Given the description of an element on the screen output the (x, y) to click on. 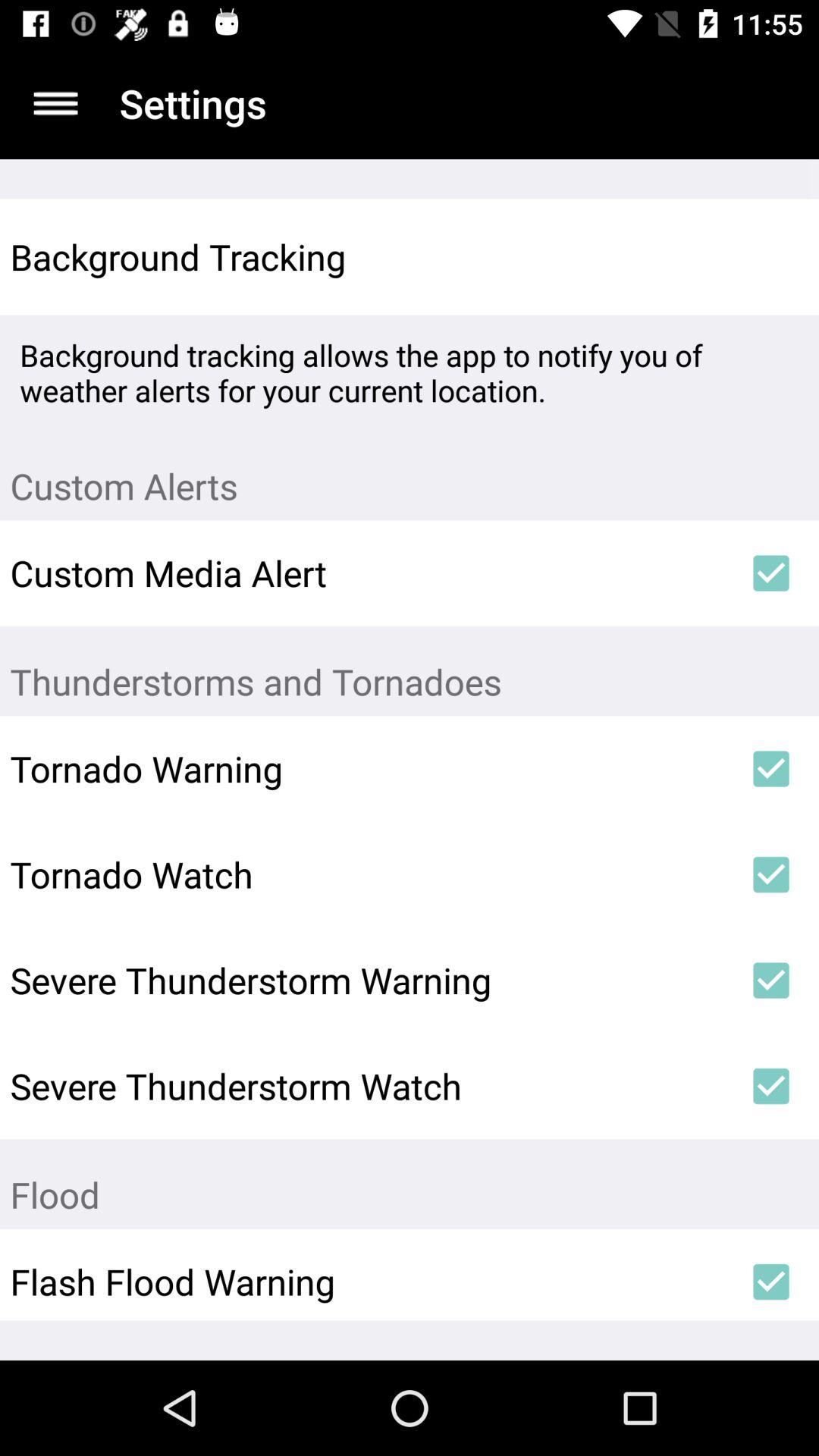
swipe to tornado watch (366, 874)
